Given the description of an element on the screen output the (x, y) to click on. 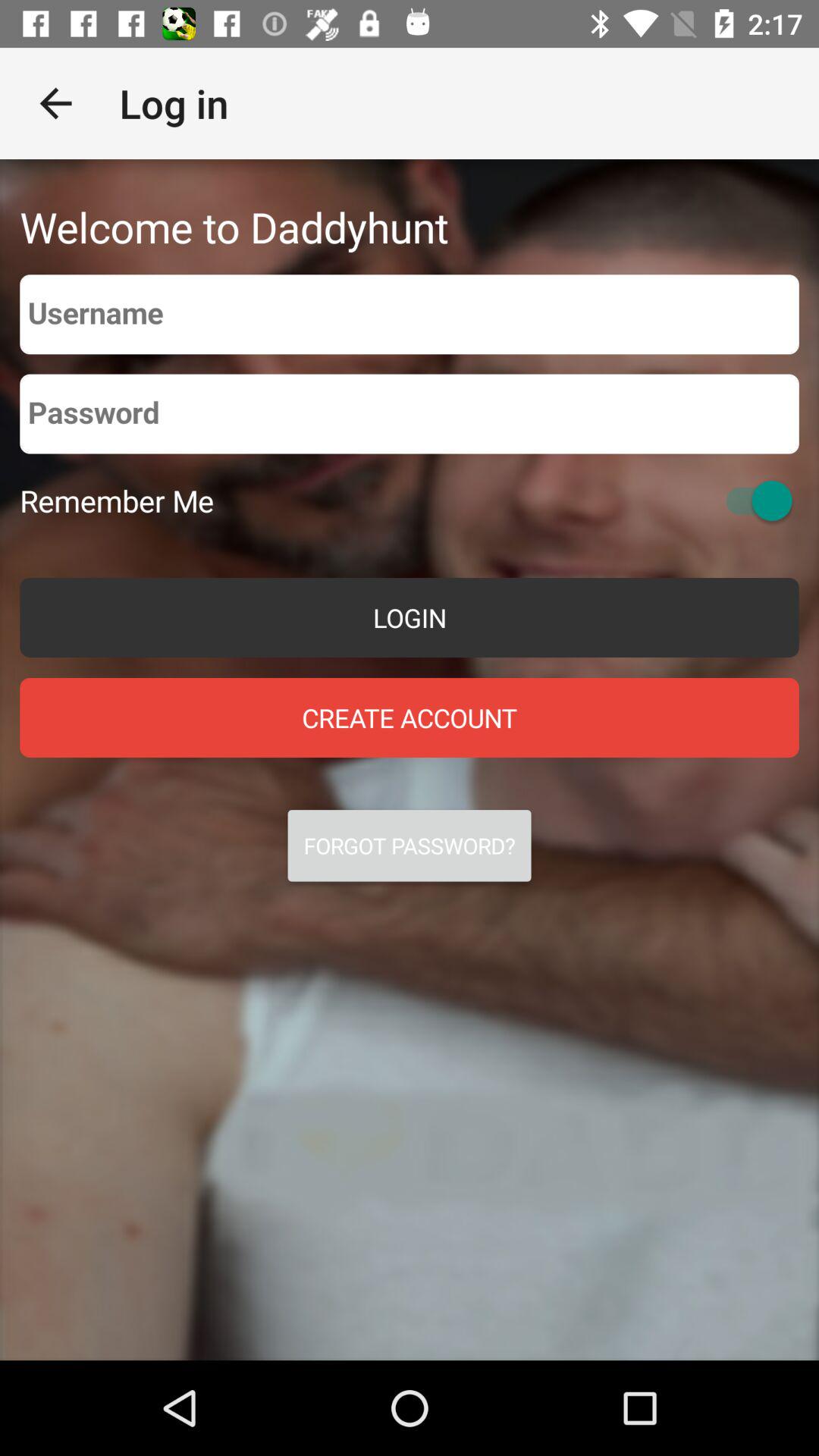
tap the app next to log in icon (55, 103)
